Given the description of an element on the screen output the (x, y) to click on. 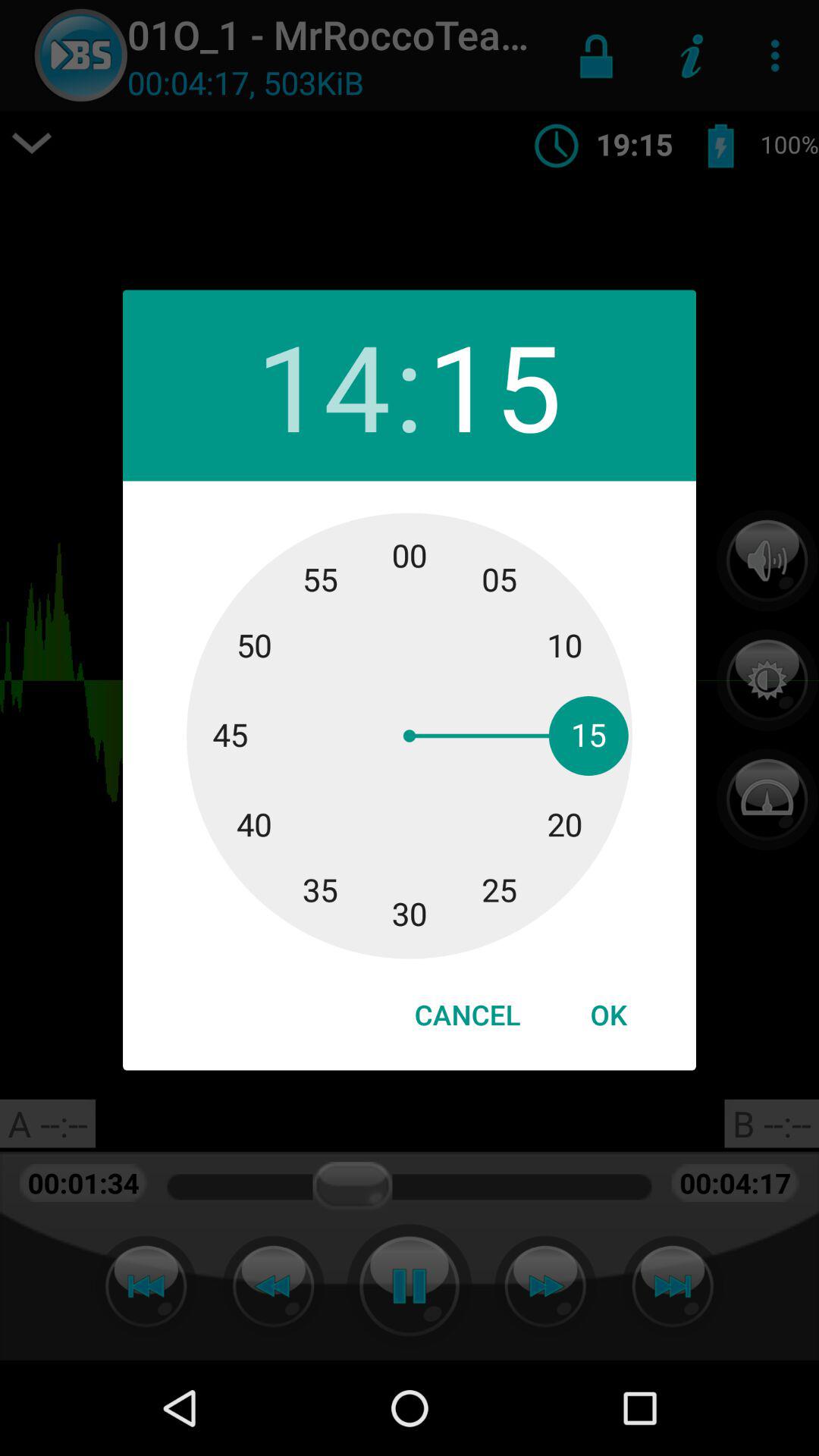
tap the item to the left of the : icon (323, 384)
